Given the description of an element on the screen output the (x, y) to click on. 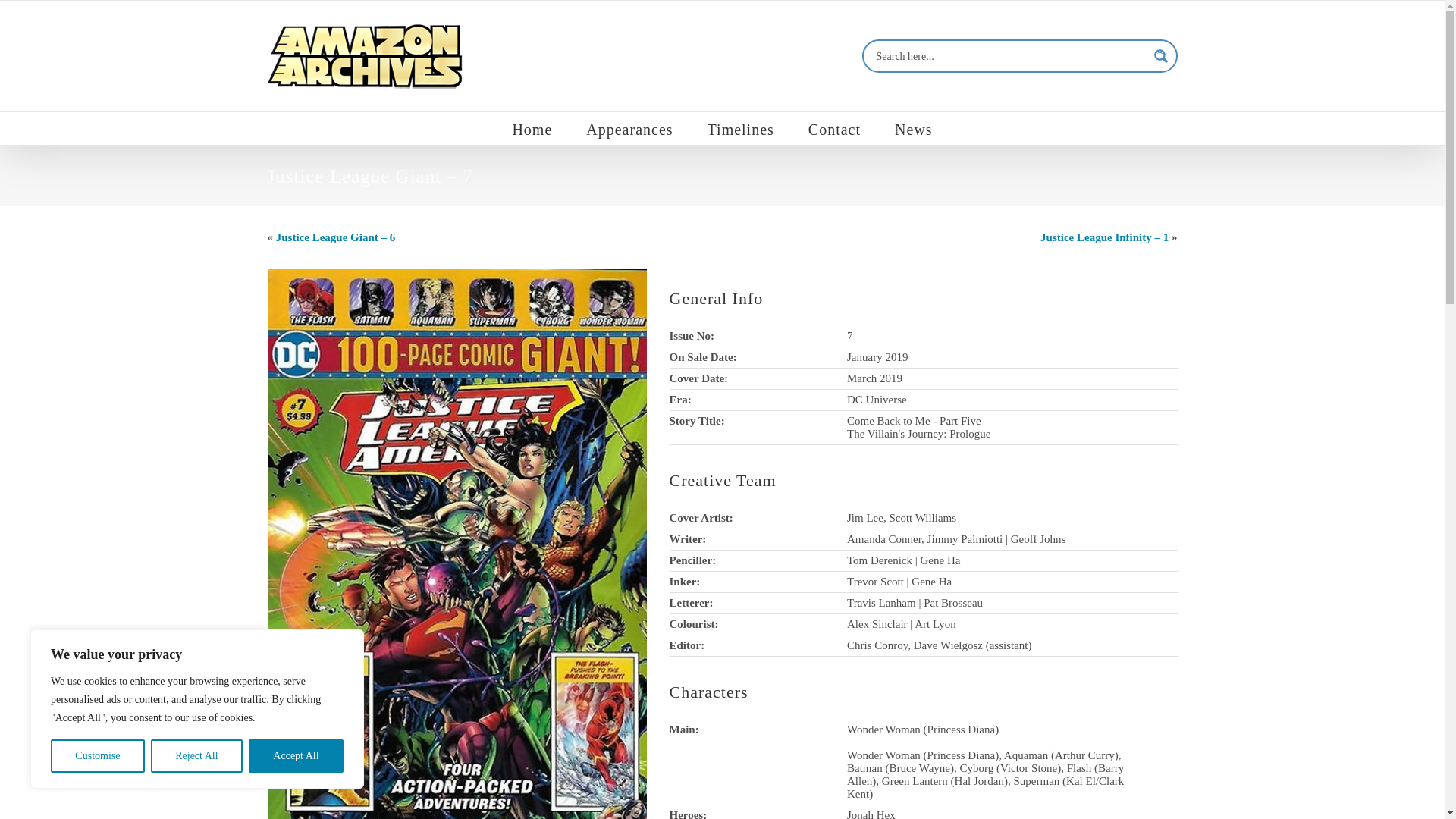
Customise (97, 756)
Accept All (295, 756)
Home (531, 128)
Appearances (629, 128)
Reject All (197, 756)
